Given the description of an element on the screen output the (x, y) to click on. 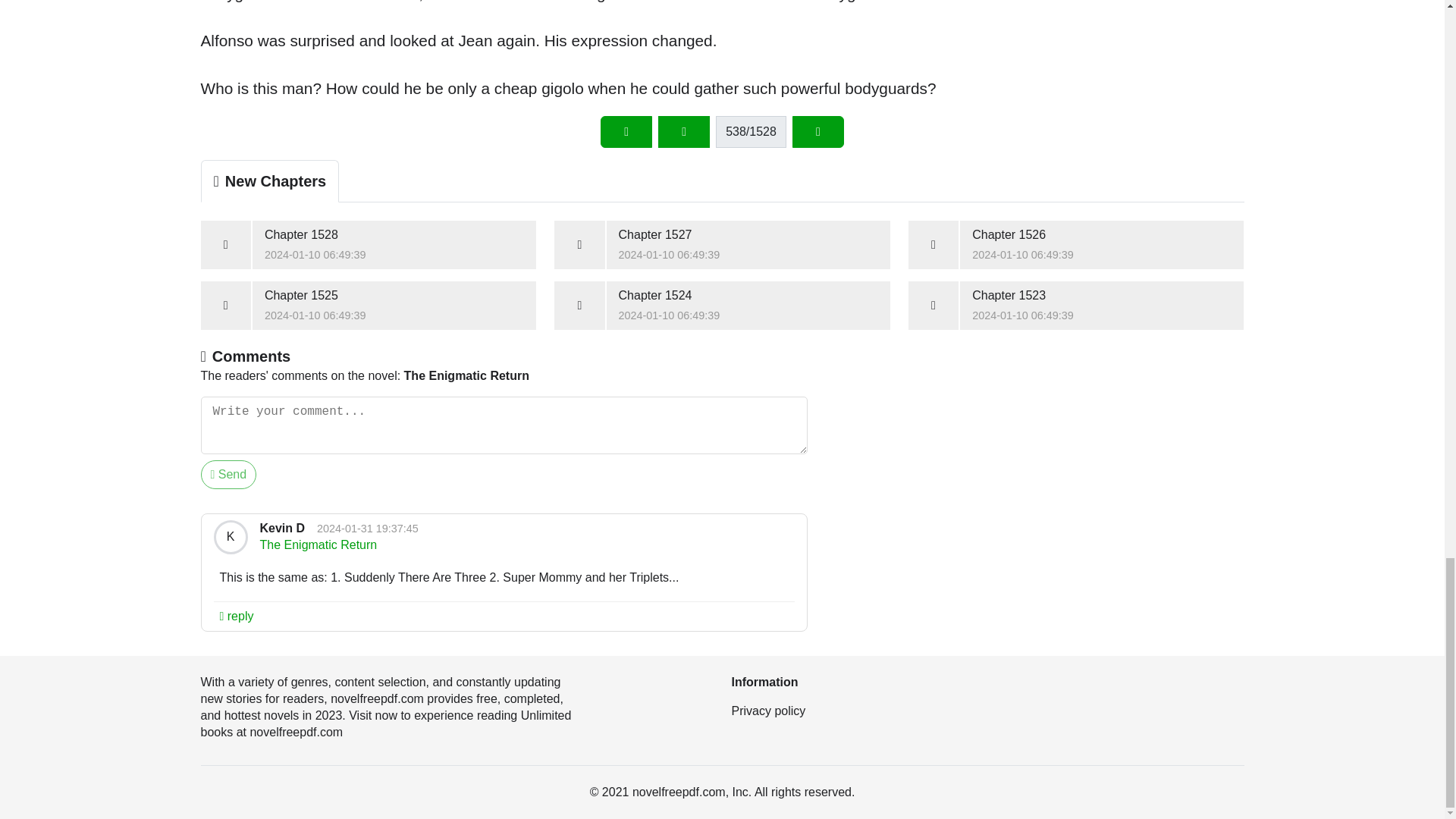
Privacy policy (1076, 305)
The Enigmatic Return (721, 244)
Next chapter (986, 710)
New Chapters (1076, 244)
Send (367, 244)
